Given the description of an element on the screen output the (x, y) to click on. 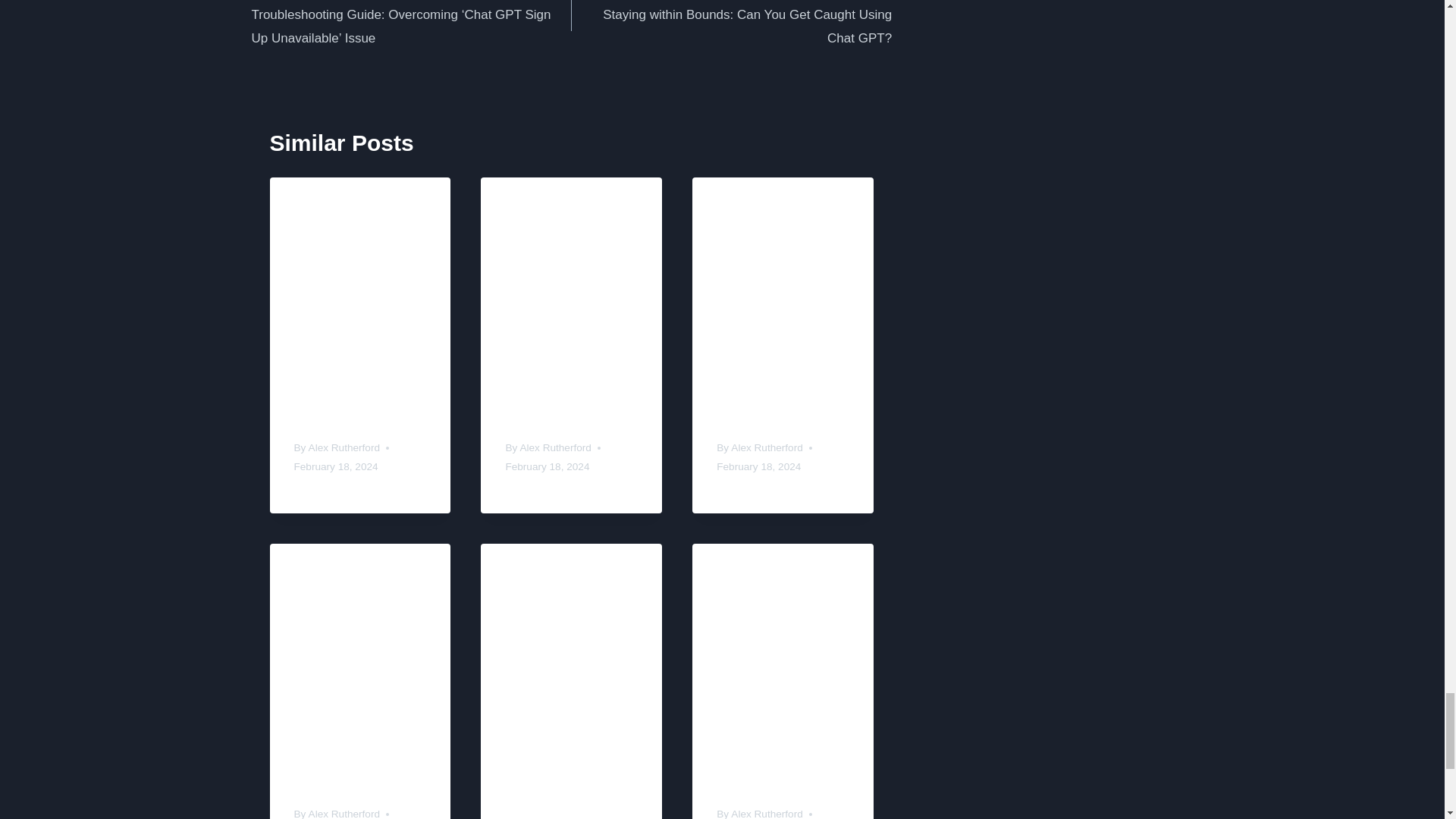
Alex Rutherford (555, 447)
Alex Rutherford (766, 447)
Alex Rutherford (344, 447)
